Given the description of an element on the screen output the (x, y) to click on. 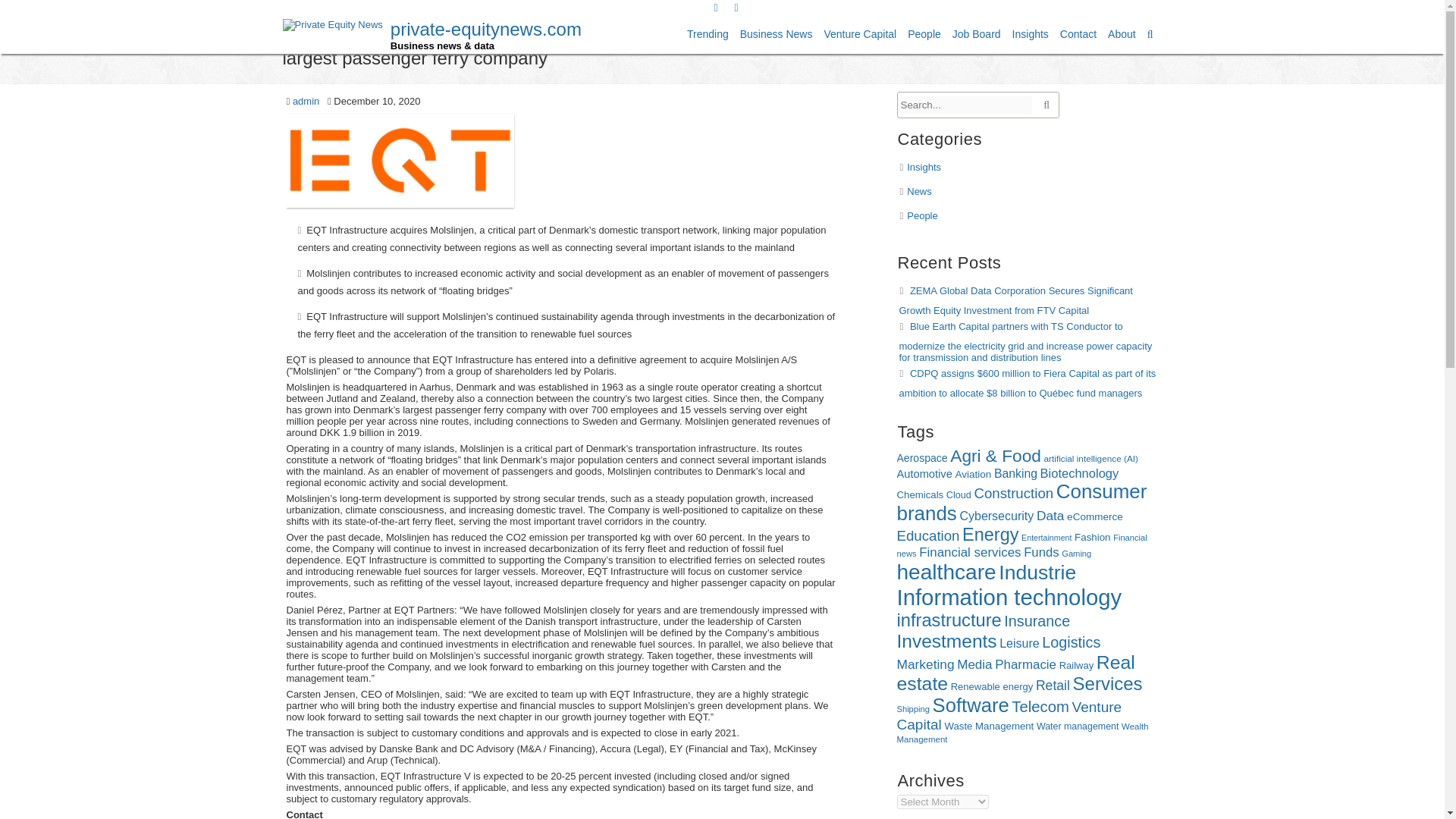
Venture Capital (859, 34)
Business News (776, 34)
private-equitynews.com (485, 34)
Contact (1078, 34)
About (1121, 34)
Trending (707, 34)
admin (305, 101)
Home (750, 41)
People (924, 34)
private-equitynews.com (485, 34)
